Given the description of an element on the screen output the (x, y) to click on. 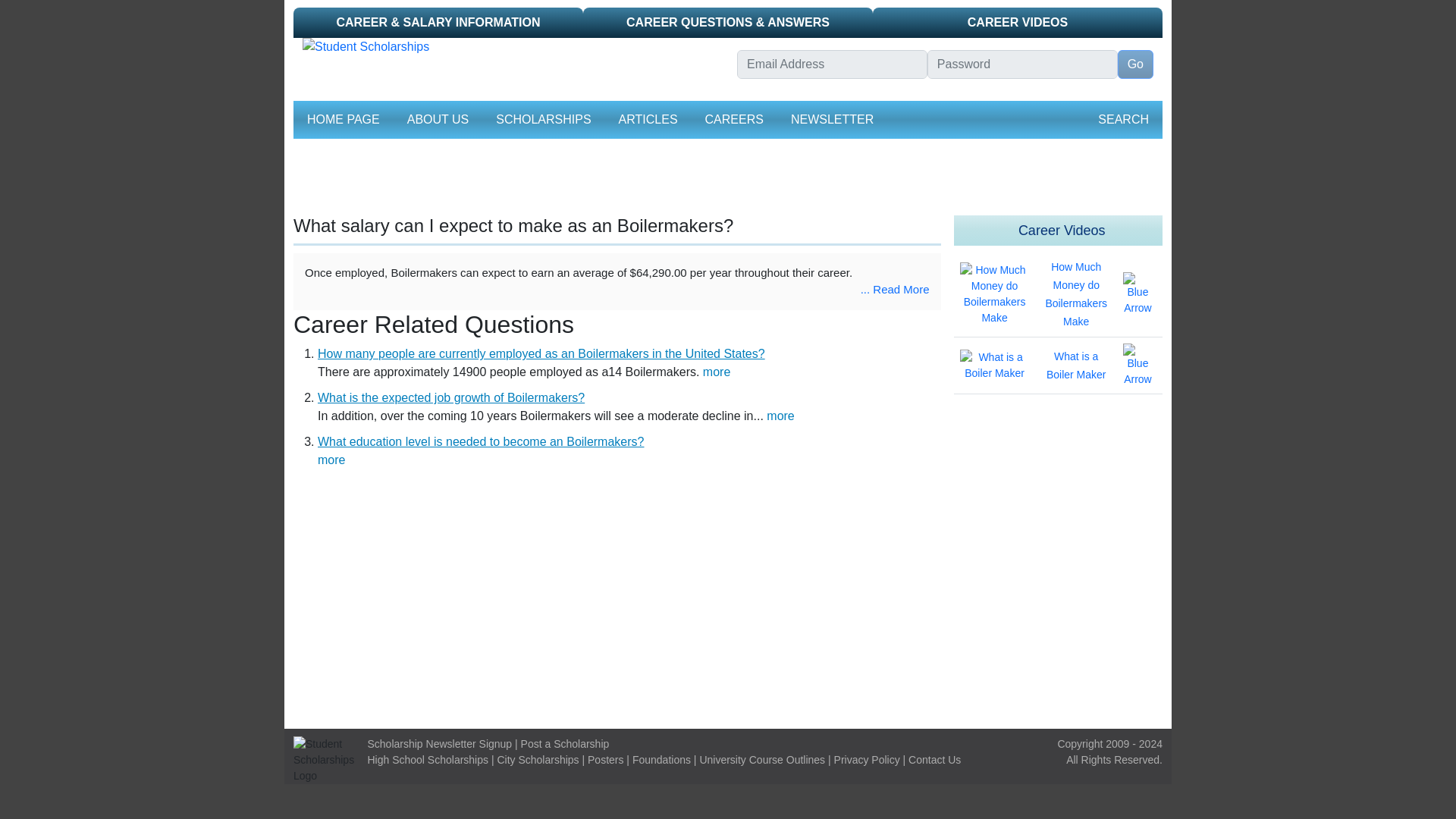
CAREERS (734, 119)
more (331, 459)
Student Scholarships (510, 46)
NEWSLETTER (831, 119)
more (780, 415)
... Read More (895, 288)
Register (891, 91)
ABOUT US (438, 119)
